Given the description of an element on the screen output the (x, y) to click on. 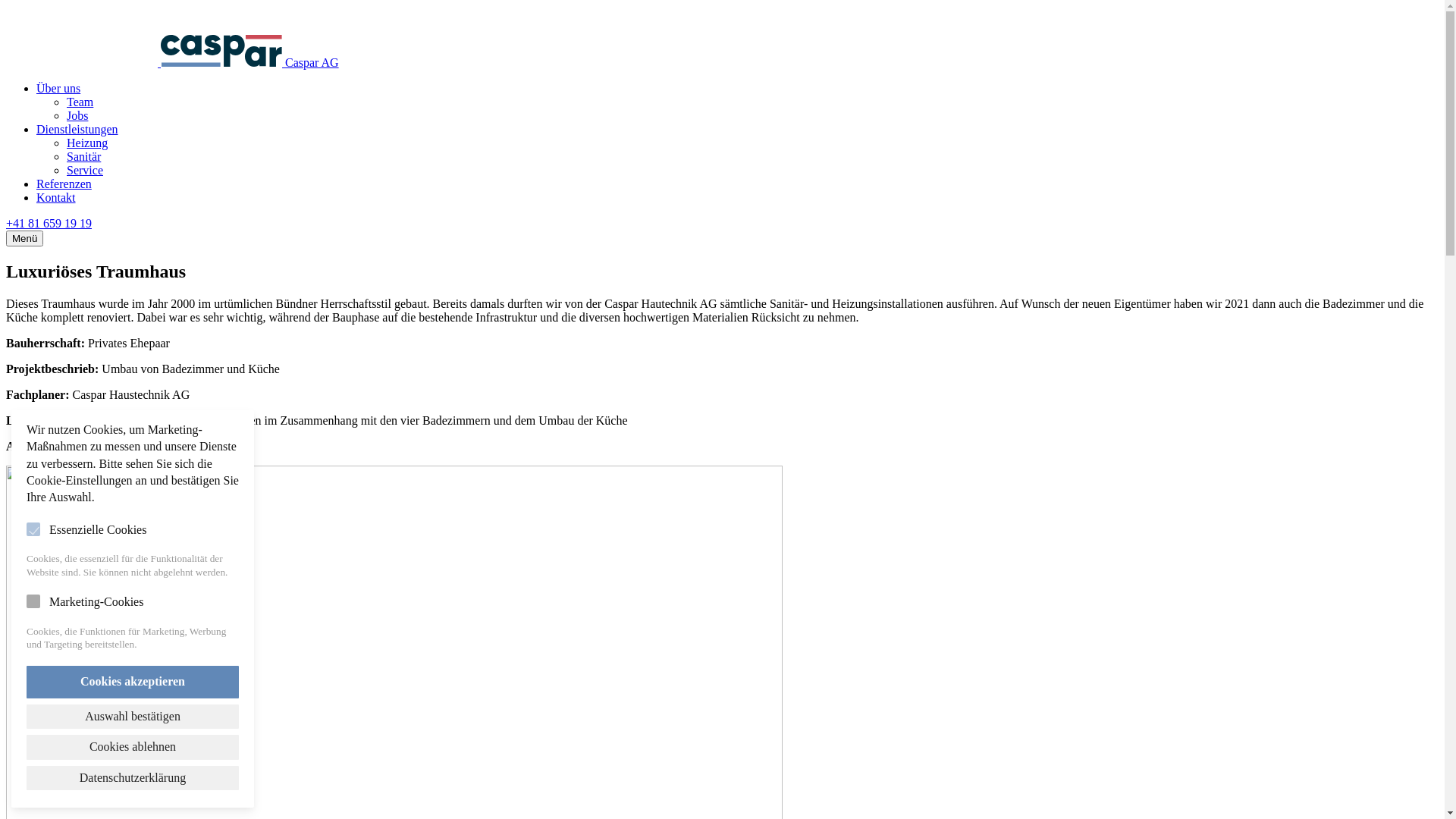
Referenzen Element type: text (63, 183)
Kontakt Element type: text (55, 197)
Caspar AG Element type: text (172, 62)
Team Element type: text (79, 101)
Dienstleistungen Element type: text (77, 128)
Heizung Element type: text (86, 142)
Cookies ablehnen Element type: text (132, 746)
+41 81 659 19 19 Element type: text (48, 222)
Cookies akzeptieren Element type: text (132, 681)
Service Element type: text (84, 169)
Jobs Element type: text (76, 115)
